Given the description of an element on the screen output the (x, y) to click on. 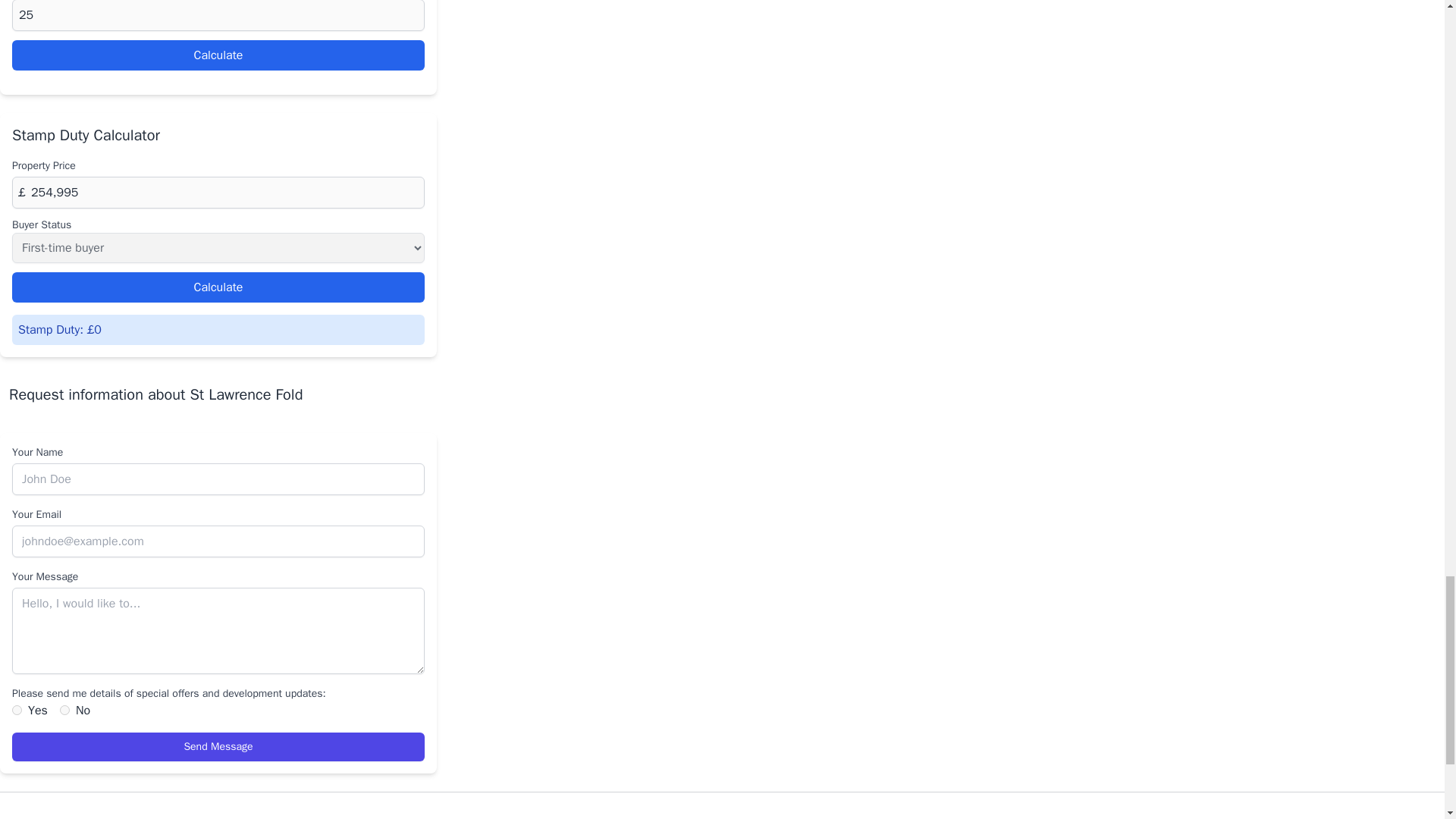
Calculate (218, 55)
Yes (16, 709)
Calculate (218, 286)
No (64, 709)
25 (218, 15)
Send Message (218, 746)
254,995 (218, 192)
